Given the description of an element on the screen output the (x, y) to click on. 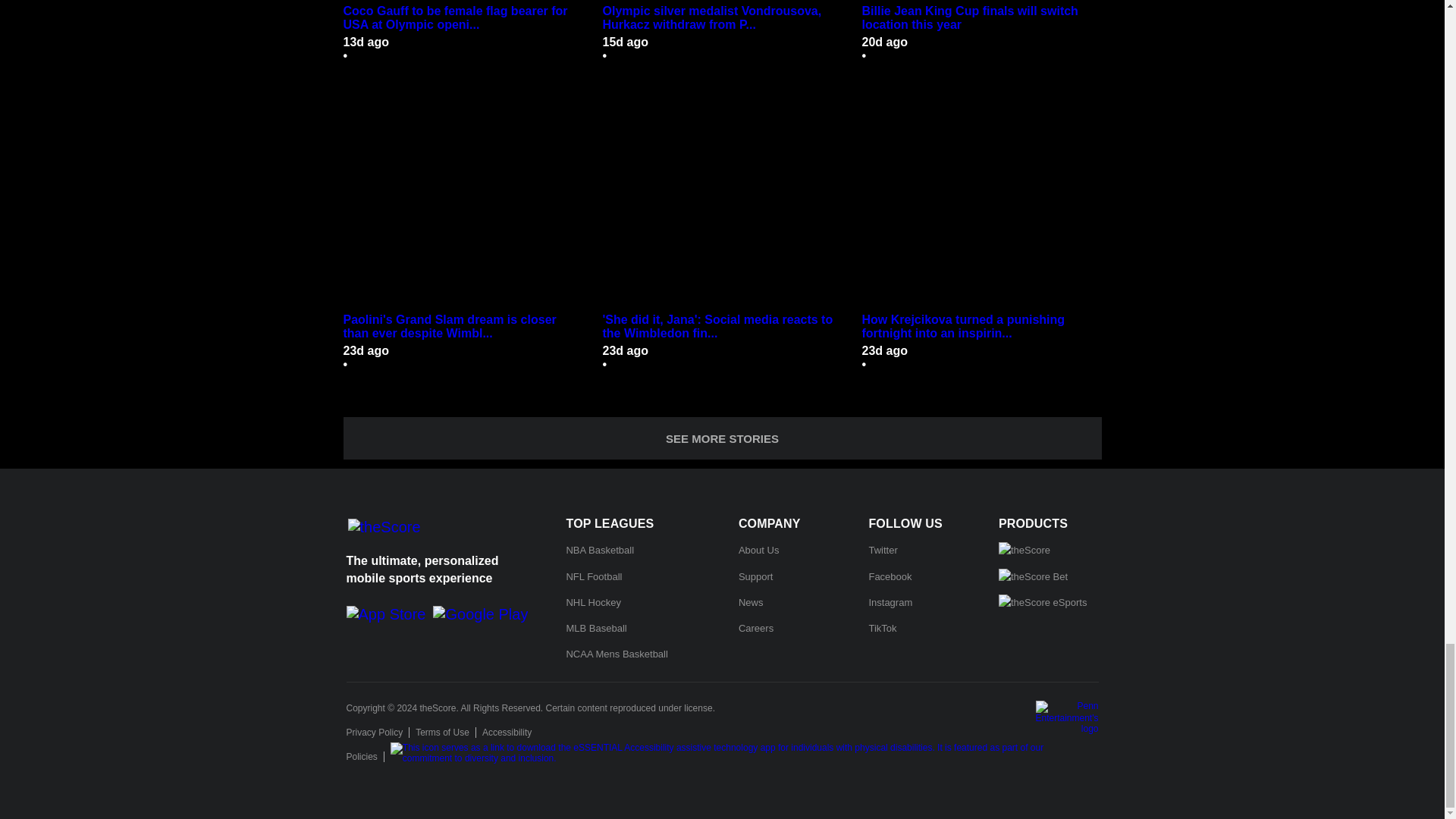
Billie Jean King Cup finals will switch location this year (980, 17)
2024-07-22T14:10:04.000Z (624, 42)
2024-07-24T11:30:02.000Z (365, 42)
2024-07-17T13:39:02.000Z (884, 42)
Billie Jean King Cup finals will switch location this year (980, 2)
